Given the description of an element on the screen output the (x, y) to click on. 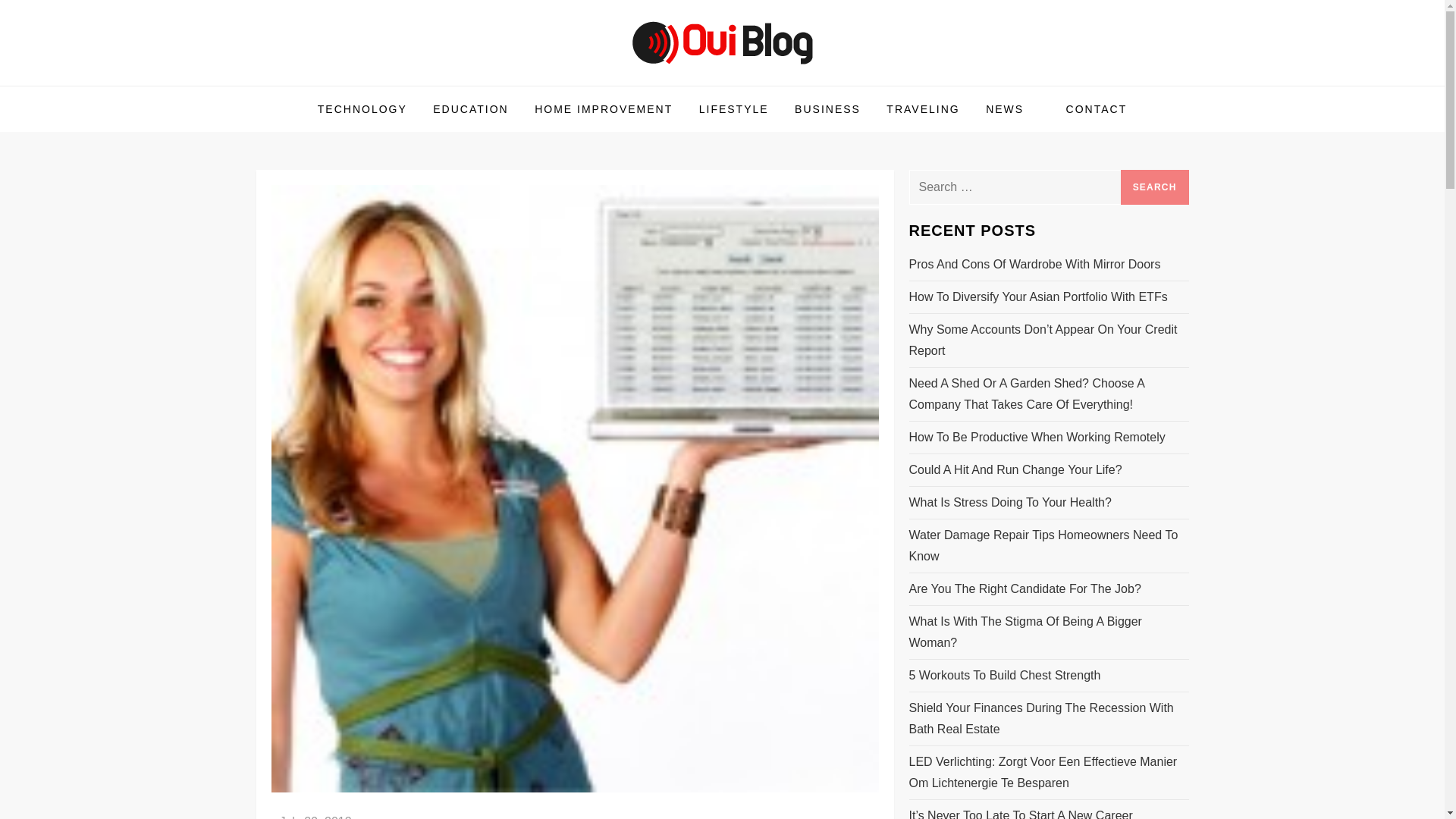
Water Damage Repair Tips Homeowners Need To Know (1048, 545)
5 Workouts To Build Chest Strength (1004, 675)
What Is With The Stigma Of Being A Bigger Woman? (1048, 631)
How To Be Productive When Working Remotely (1036, 436)
Oui Blog (314, 84)
EDUCATION (470, 108)
LIFESTYLE (733, 108)
How To Diversify Your Asian Portfolio With ETFs (1037, 296)
Pros And Cons Of Wardrobe With Mirror Doors (1034, 264)
What Is Stress Doing To Your Health? (1009, 502)
Search (1155, 186)
CONTACT (1096, 108)
HOME IMPROVEMENT (603, 108)
